Given the description of an element on the screen output the (x, y) to click on. 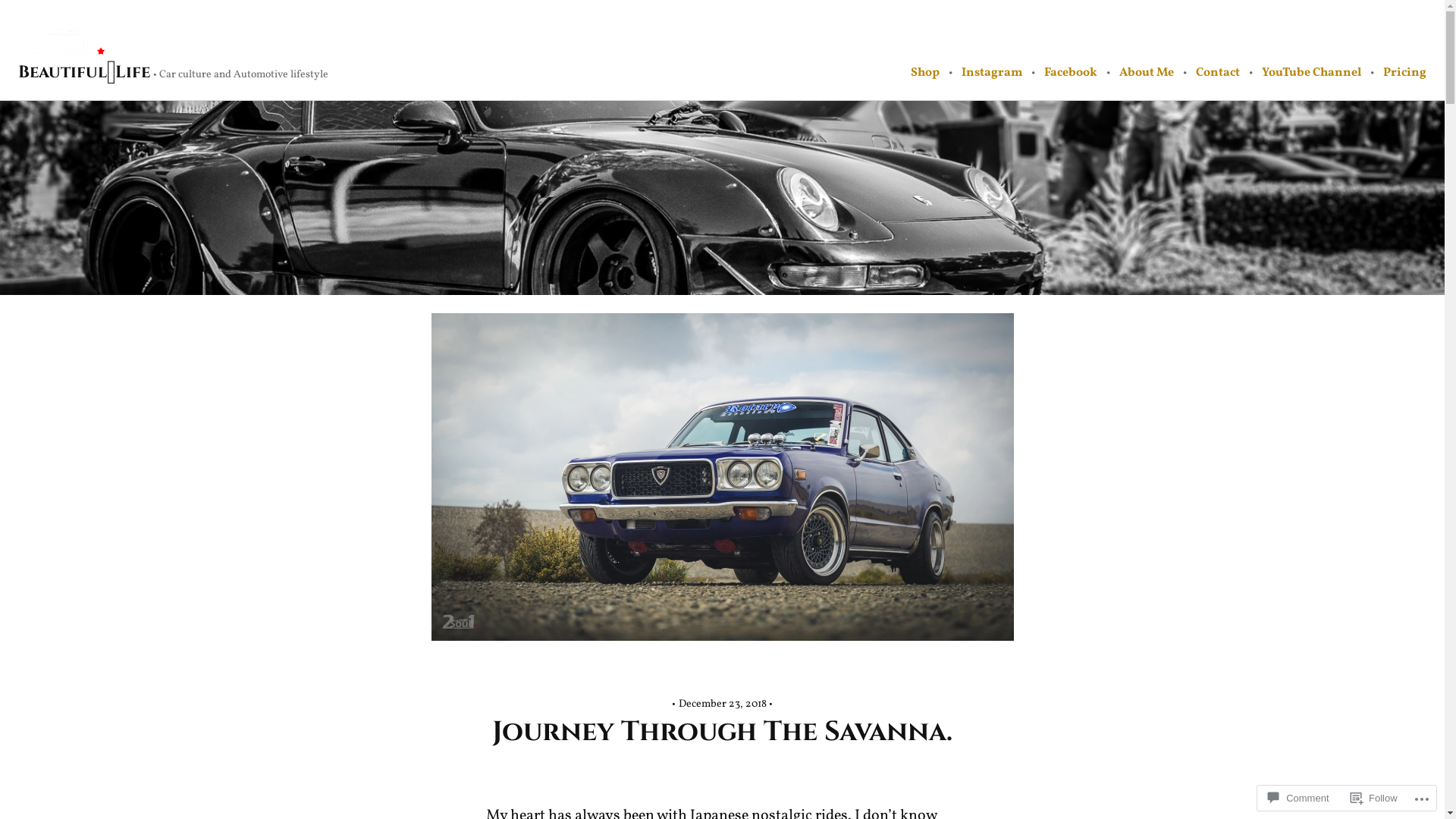
Instagram Element type: text (991, 72)
About Me Element type: text (1146, 72)
Contact Element type: text (1217, 72)
Comment Element type: text (1297, 797)
YouTube Channel Element type: text (1311, 72)
Pricing Element type: text (1404, 72)
Shop Element type: text (924, 72)
Facebook Element type: text (1070, 72)
December 23, 2018 Element type: text (721, 704)
Follow Element type: text (1373, 797)
